Given the description of an element on the screen output the (x, y) to click on. 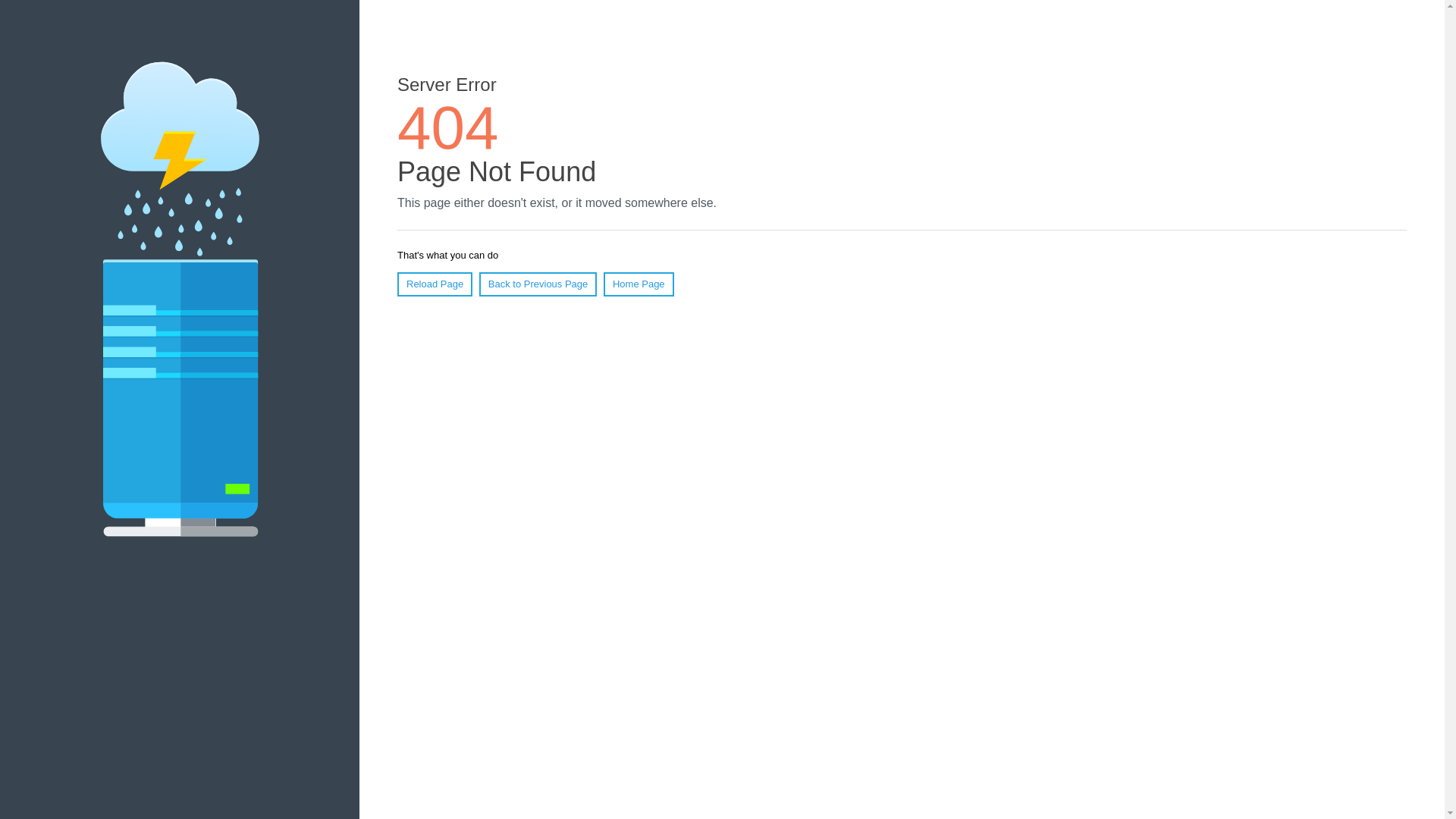
Home Page Element type: text (638, 284)
Back to Previous Page Element type: text (538, 284)
Reload Page Element type: text (434, 284)
